Given the description of an element on the screen output the (x, y) to click on. 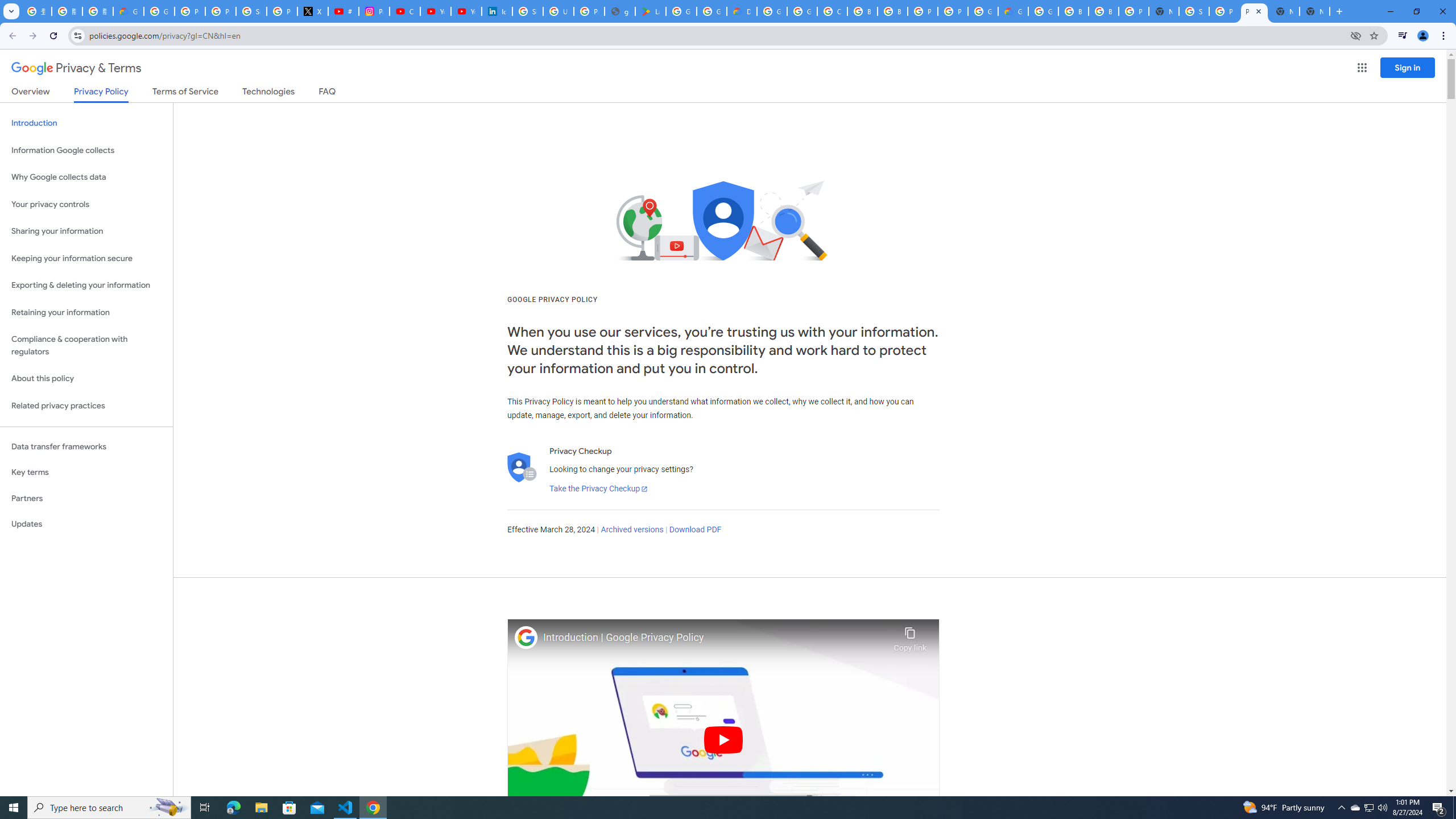
Privacy Help Center - Policies Help (220, 11)
Sign in - Google Accounts (251, 11)
Introduction | Google Privacy Policy (715, 637)
Google Cloud Privacy Notice (127, 11)
